Given the description of an element on the screen output the (x, y) to click on. 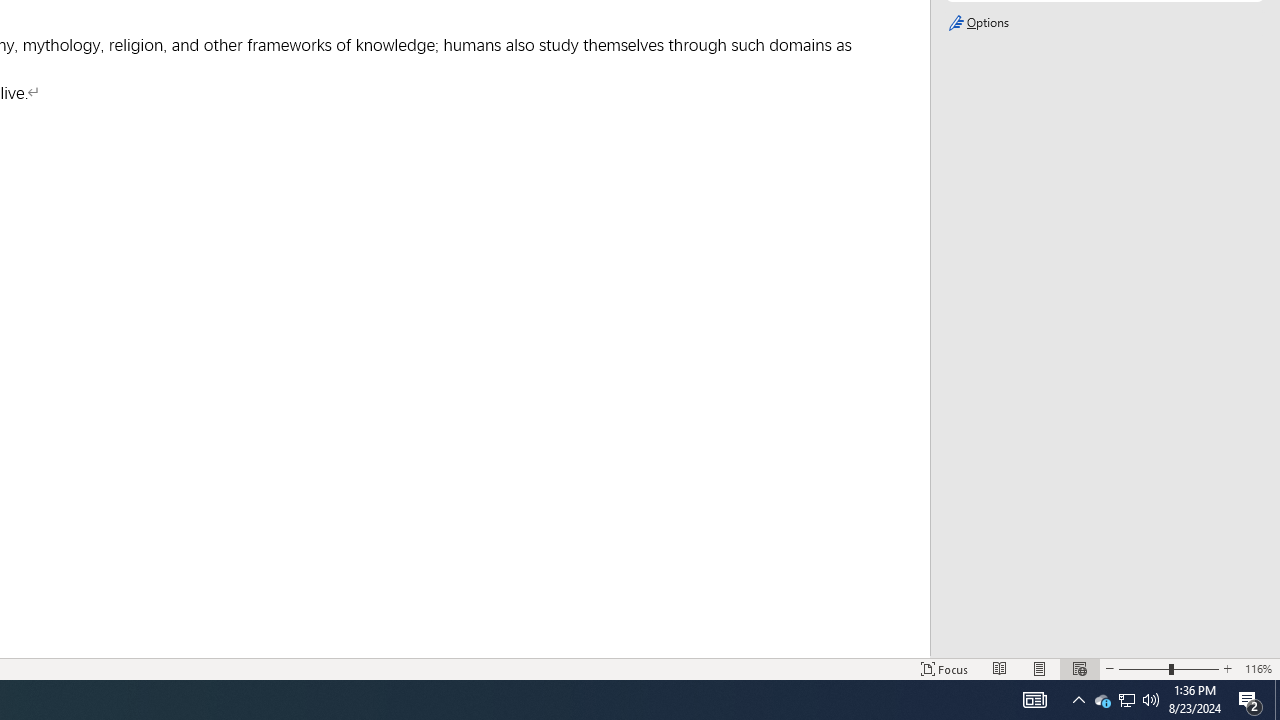
Zoom 116% (1258, 668)
